Given the description of an element on the screen output the (x, y) to click on. 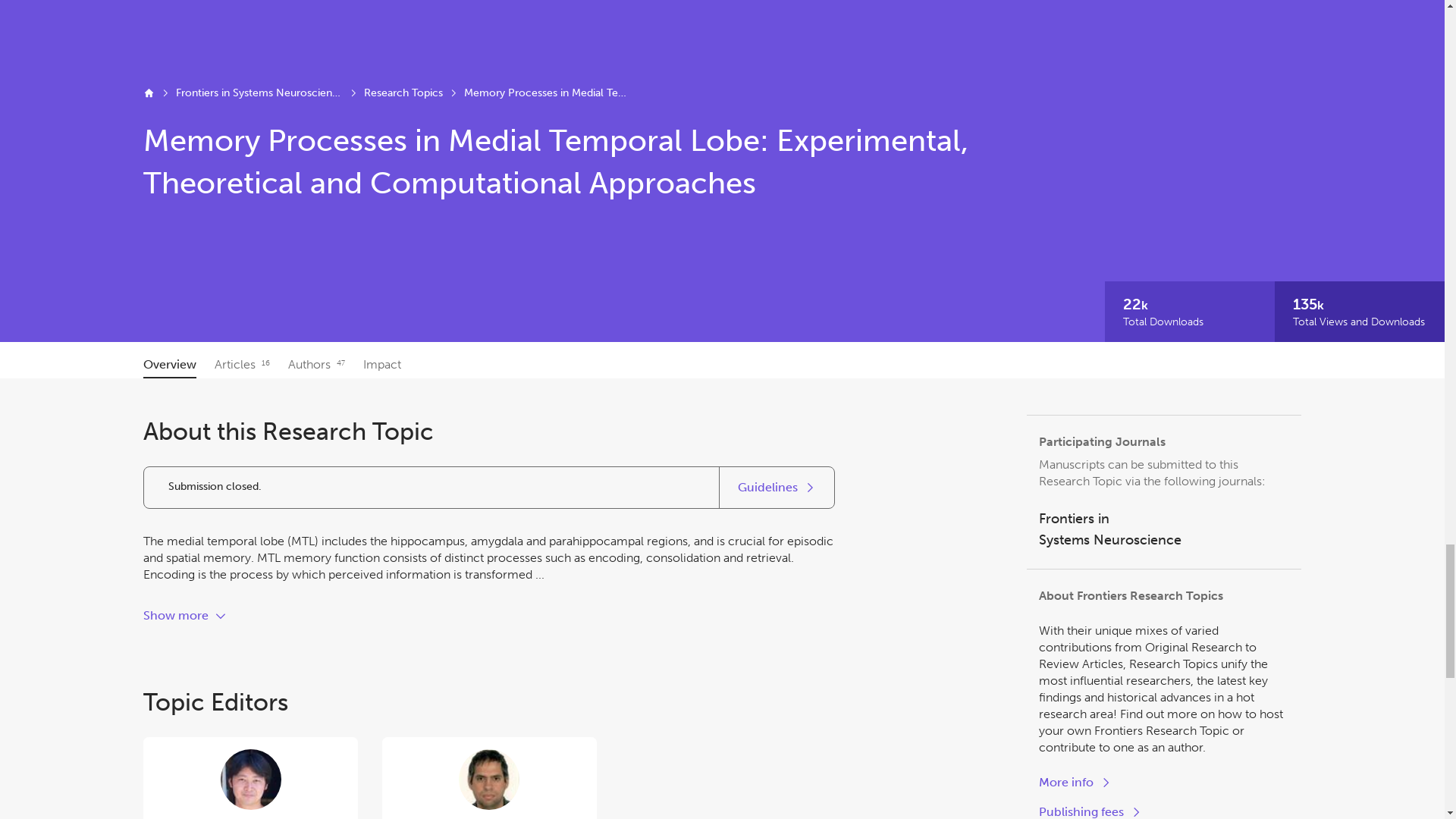
Research Topics (403, 92)
Articles 16 (241, 364)
Authors 47 (316, 364)
Guidelines (1163, 528)
Frontiers in Systems Neuroscience (776, 487)
Overview (259, 92)
Publishing fees (169, 364)
